Given the description of an element on the screen output the (x, y) to click on. 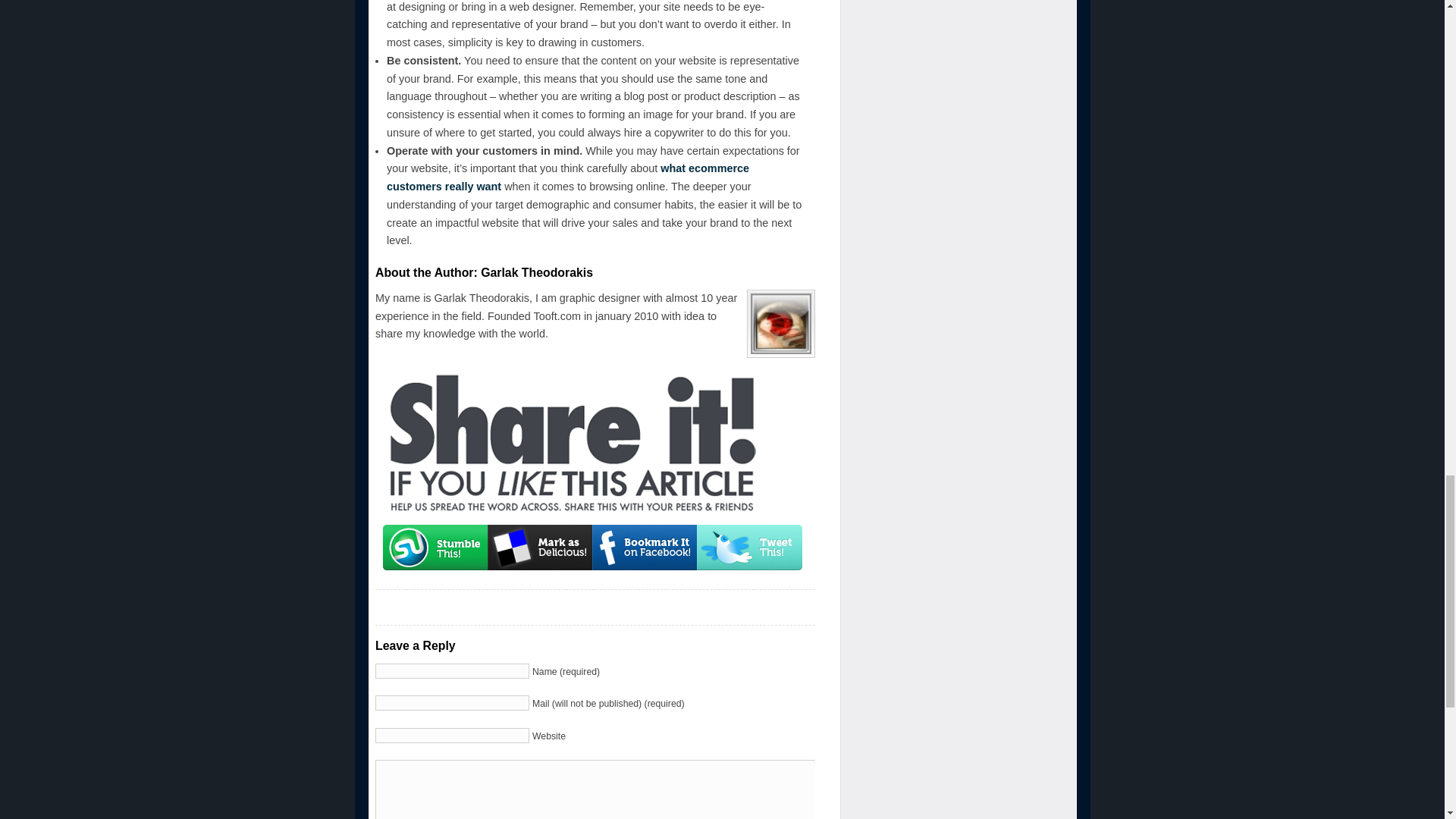
Tweet This! (749, 547)
what ecommerce customers really want (568, 177)
Stumble This (434, 547)
Add to Facebook (644, 547)
Add to Delicious Bookmarks (539, 547)
